Given the description of an element on the screen output the (x, y) to click on. 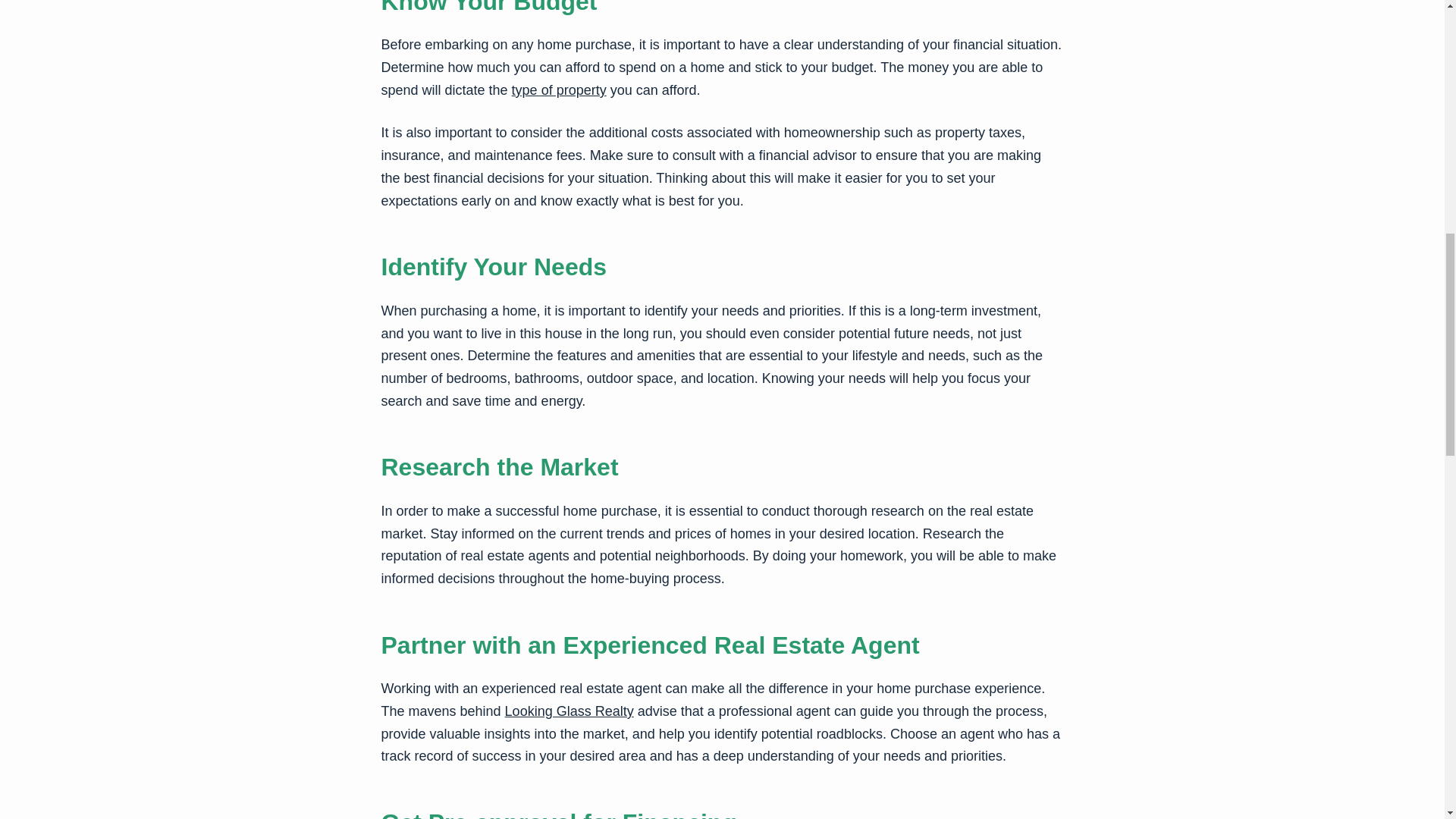
type of property (559, 89)
Looking Glass Realty (569, 711)
